Given the description of an element on the screen output the (x, y) to click on. 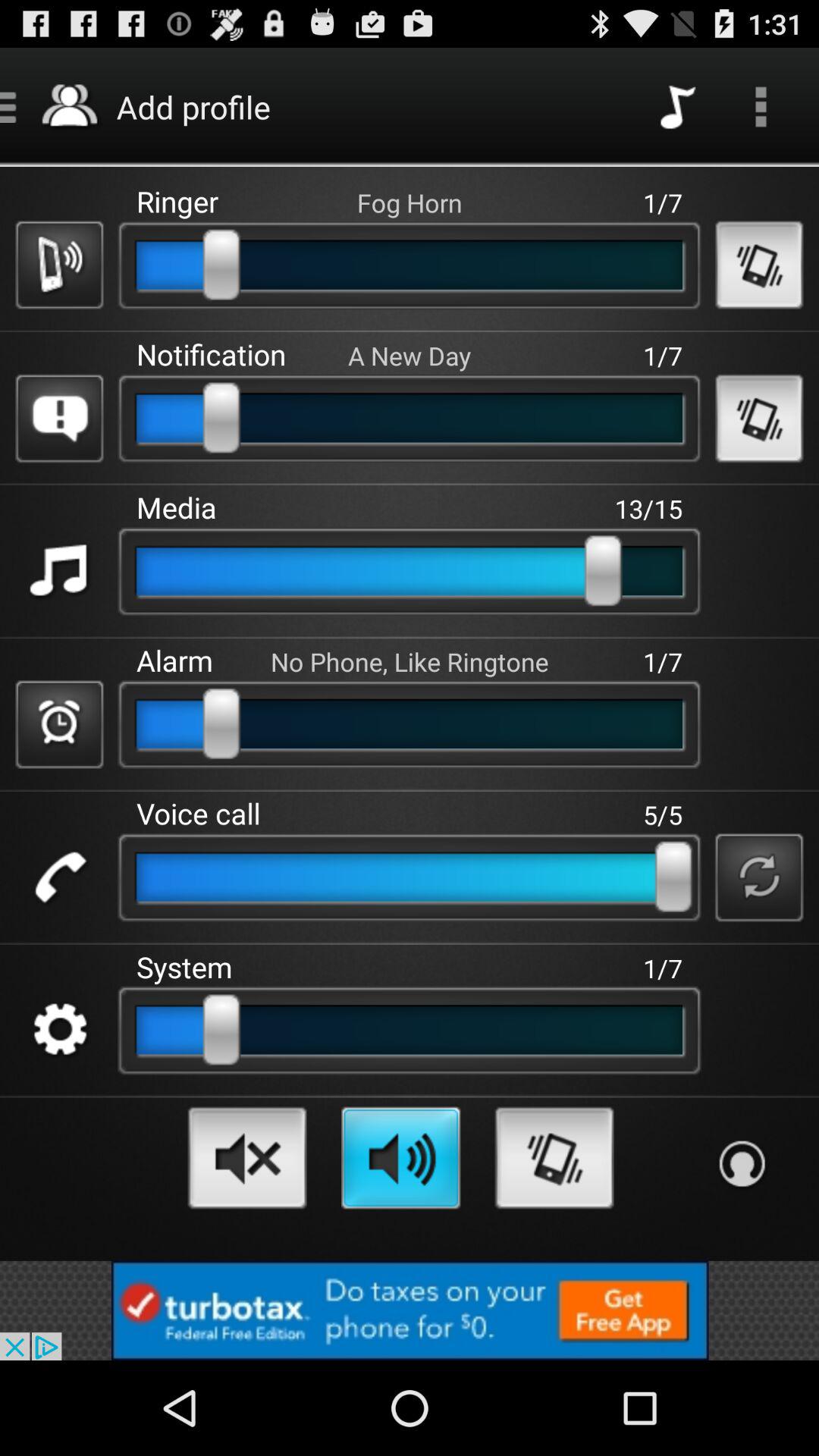
go to exclamatry (59, 418)
